Given the description of an element on the screen output the (x, y) to click on. 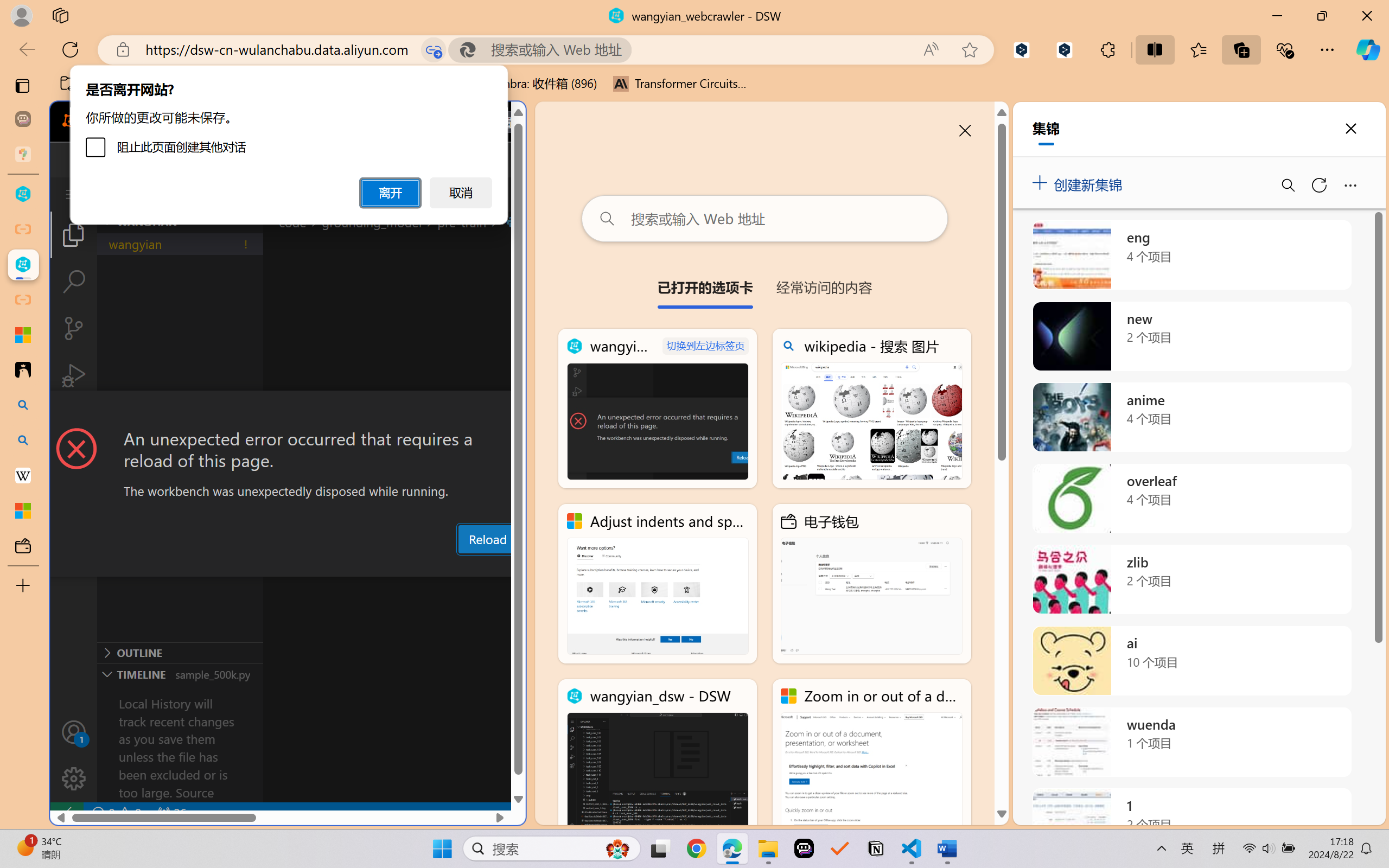
Earth - Wikipedia (22, 475)
Outline Section (179, 652)
Run and Debug (Ctrl+Shift+D) (73, 375)
